Given the description of an element on the screen output the (x, y) to click on. 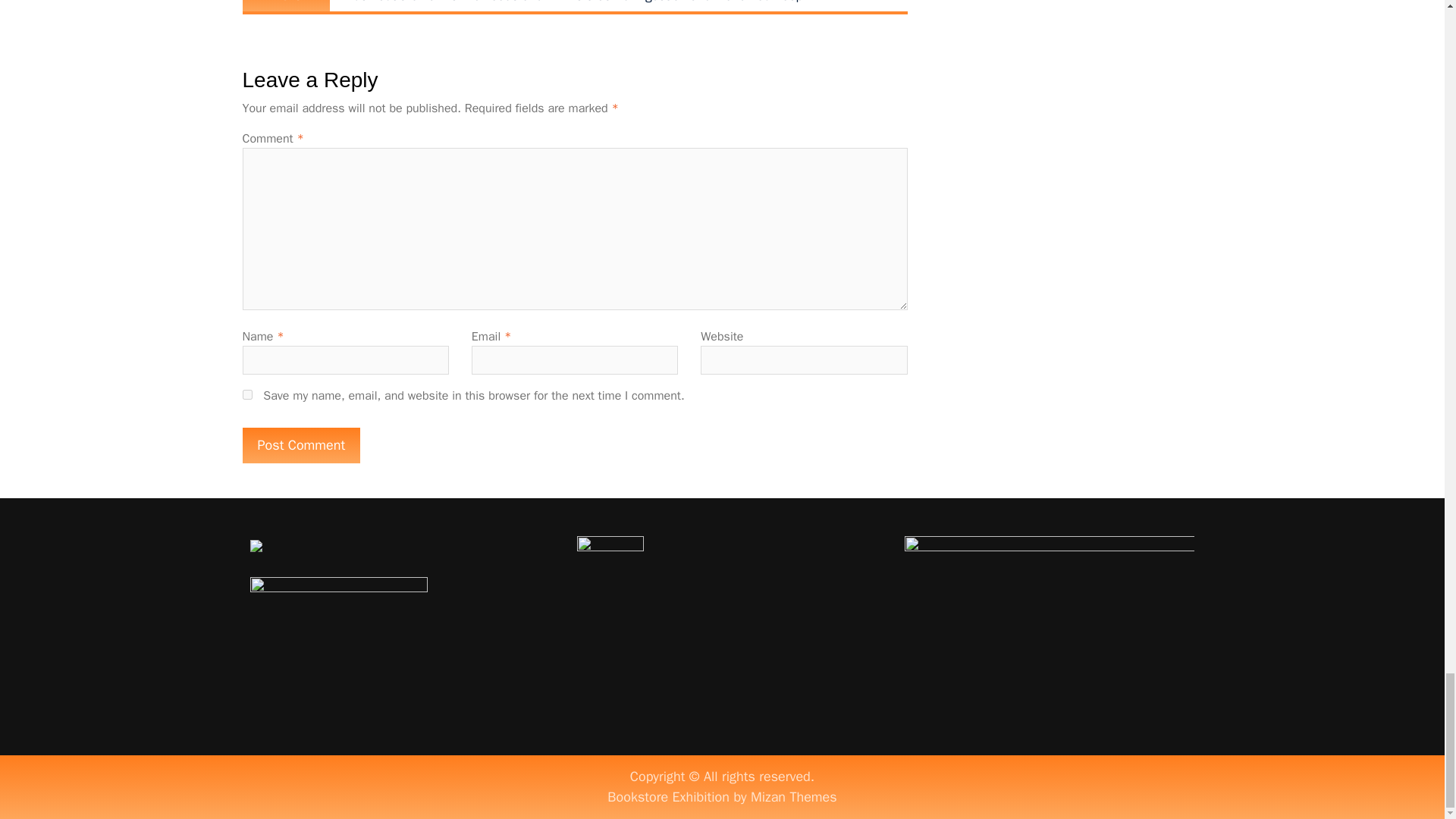
Bookstore Exhibition by Mizan Themes (721, 796)
Post Comment (302, 445)
Post Comment (302, 445)
yes (247, 394)
